Given the description of an element on the screen output the (x, y) to click on. 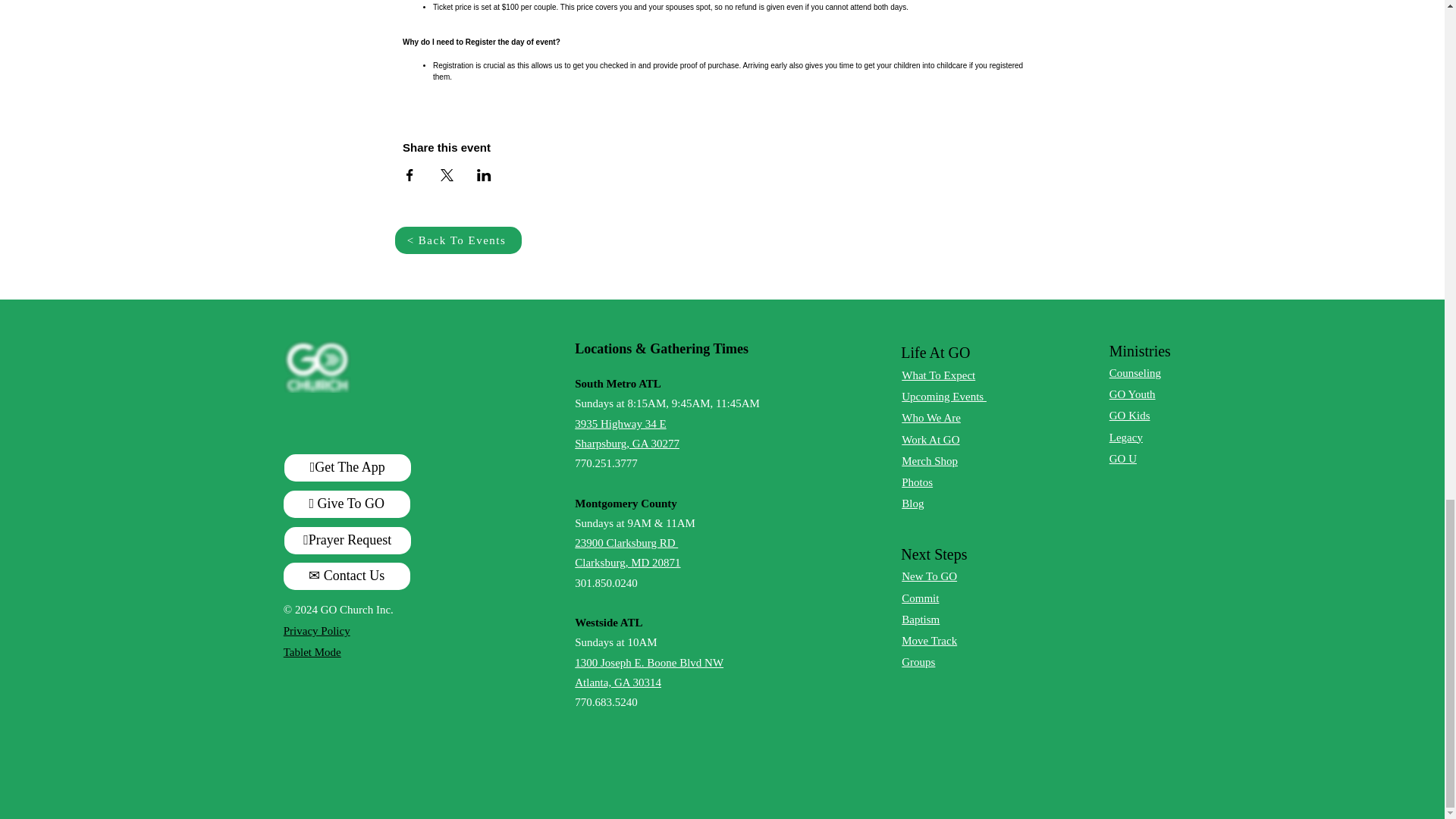
23900 Clarksburg RD  (626, 542)
Clarksburg, MD 20871 (627, 562)
What To Expect (627, 433)
New To GO (938, 375)
Baptism (928, 576)
Commit (649, 672)
Move Track (920, 619)
Groups (920, 598)
